Given the description of an element on the screen output the (x, y) to click on. 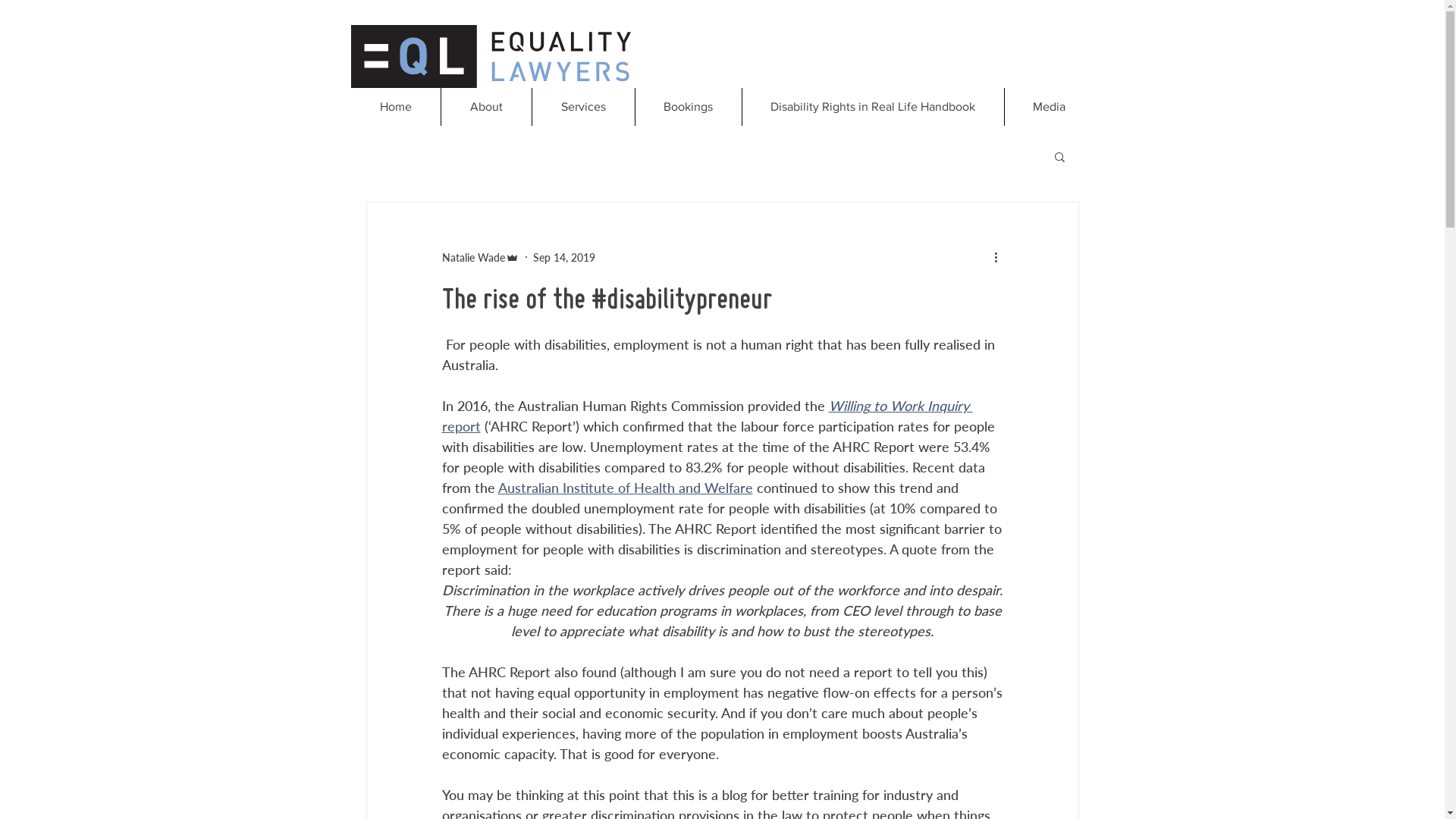
Natalie Wade Element type: text (479, 256)
Willing to Work Inquiry report Element type: text (706, 415)
Disability Rights in Real Life Handbook Element type: text (872, 106)
Bookings Element type: text (686, 106)
Australian Institute of Health and Welfare Element type: text (624, 487)
Media Element type: text (1049, 106)
Services Element type: text (581, 106)
About Element type: text (484, 106)
Home Element type: text (394, 106)
